Given the description of an element on the screen output the (x, y) to click on. 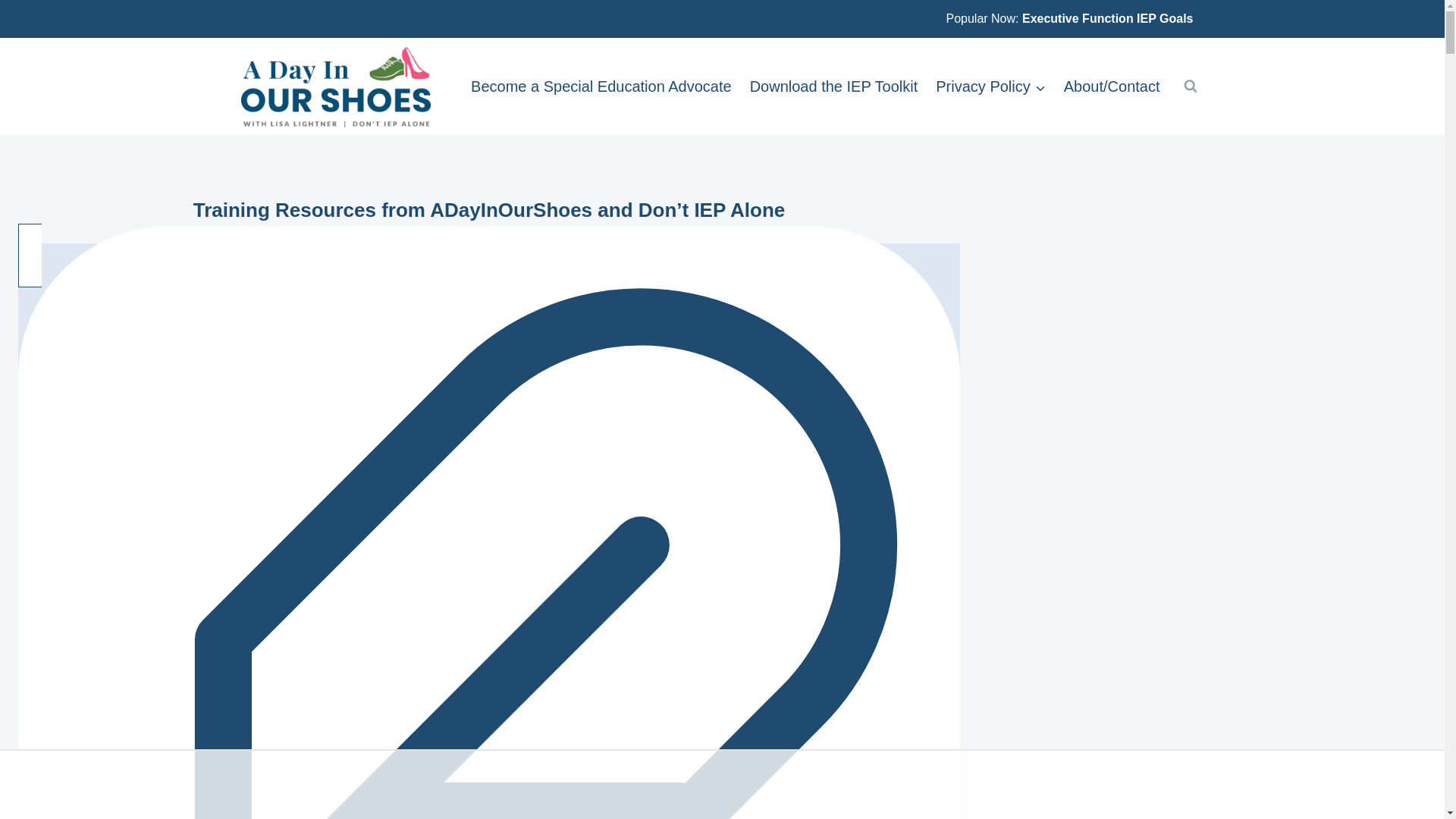
Become a Special Education Advocate (601, 86)
Privacy Policy (990, 86)
Executive Function IEP Goals (1107, 18)
Download the IEP Toolkit (834, 86)
